Given the description of an element on the screen output the (x, y) to click on. 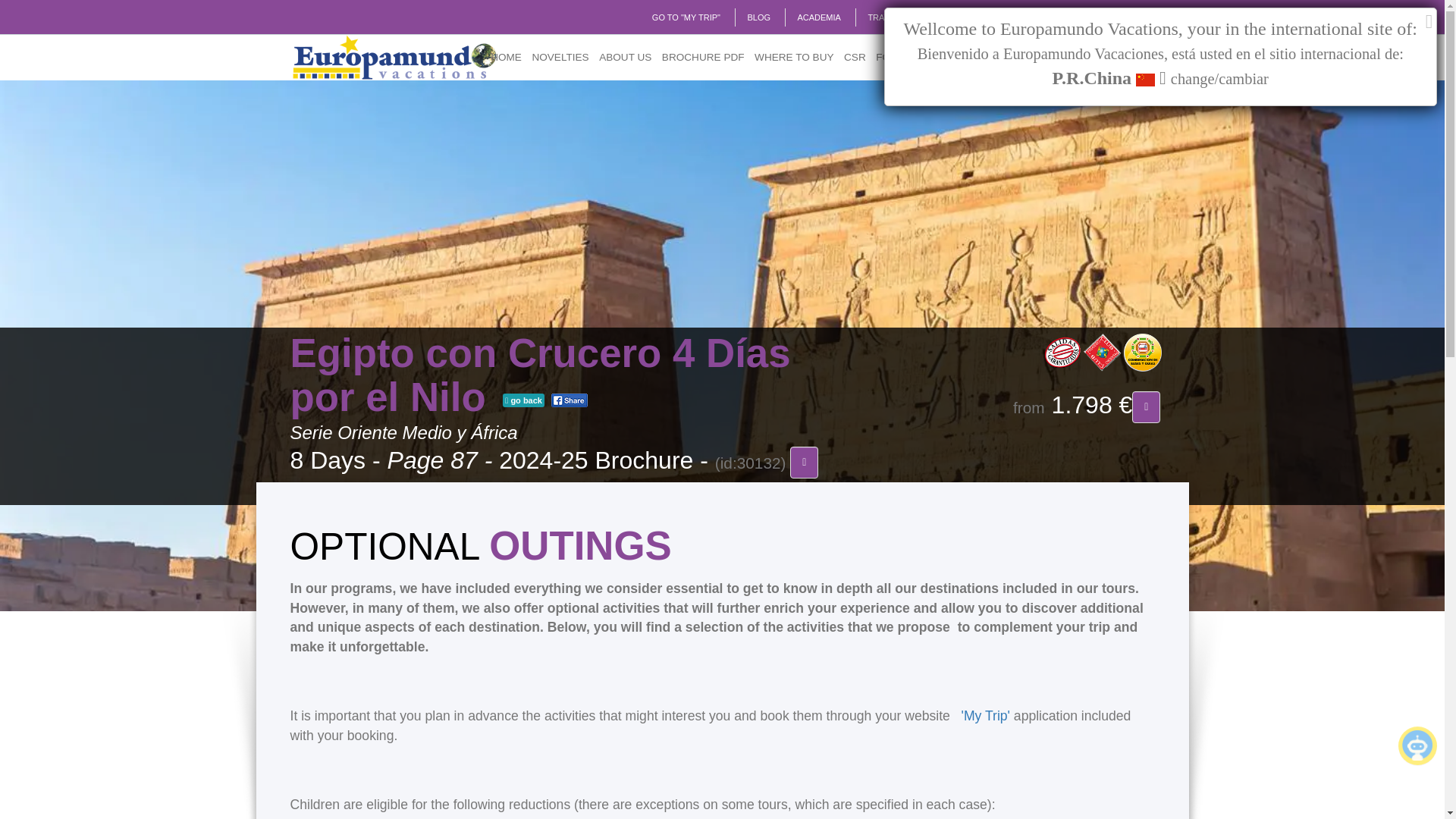
BLOG (758, 17)
ABOUT US (625, 57)
P.R.China (1130, 17)
GO TO "MY TRIP" (686, 17)
ACADEMIA (818, 17)
BROCHURE PDF (703, 57)
Tours in English (1033, 17)
WHERE TO BUY (794, 57)
NOVELTIES (559, 57)
TRAVEL AGENCIES LOGIN (919, 17)
